Given the description of an element on the screen output the (x, y) to click on. 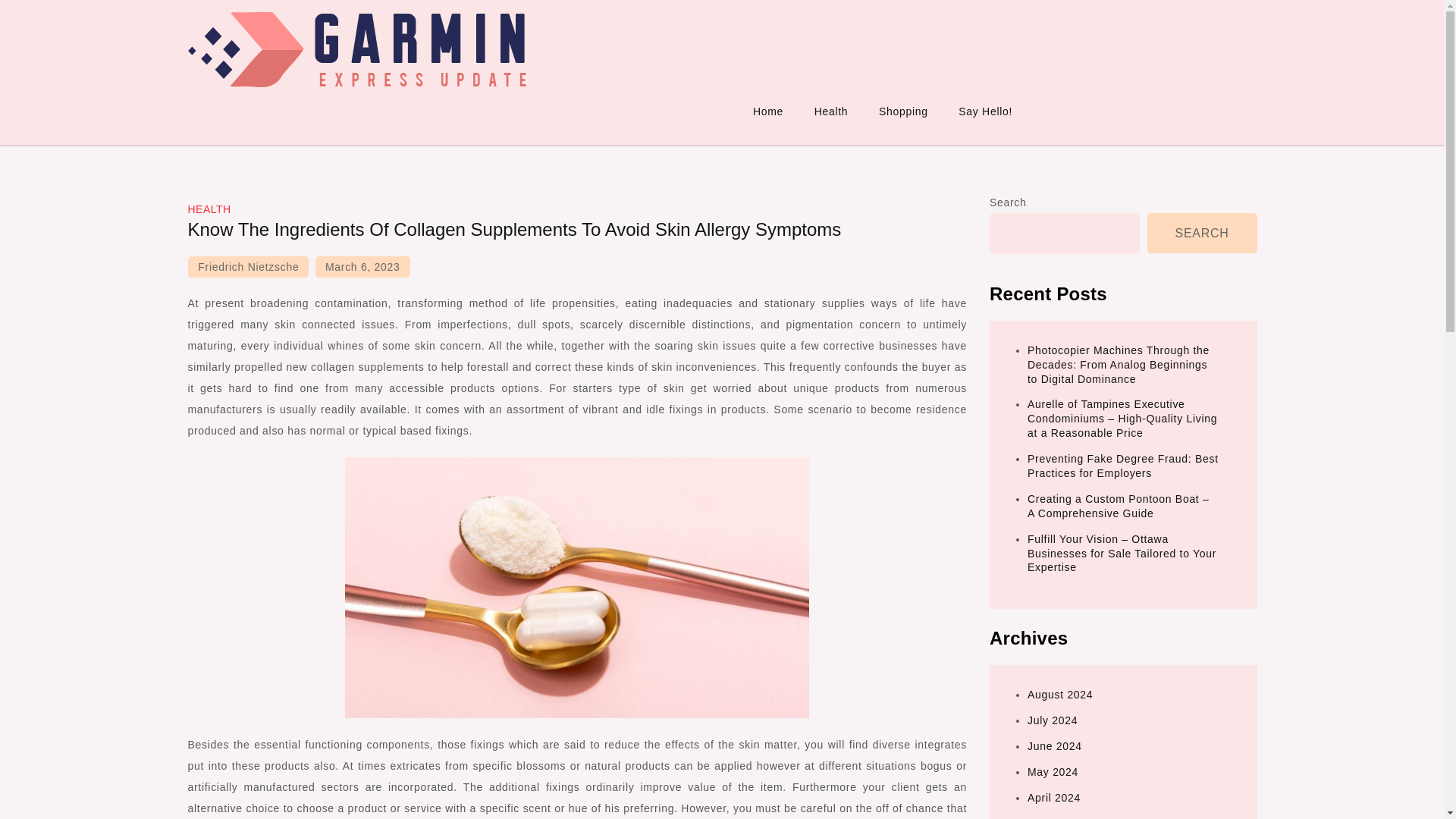
April 2024 (1053, 797)
Health (830, 111)
July 2024 (1052, 720)
HEALTH (209, 209)
March 6, 2023 (362, 266)
March 2024 (1058, 818)
Friedrich Nietzsche (247, 266)
August 2024 (1060, 694)
Shopping (903, 111)
